Given the description of an element on the screen output the (x, y) to click on. 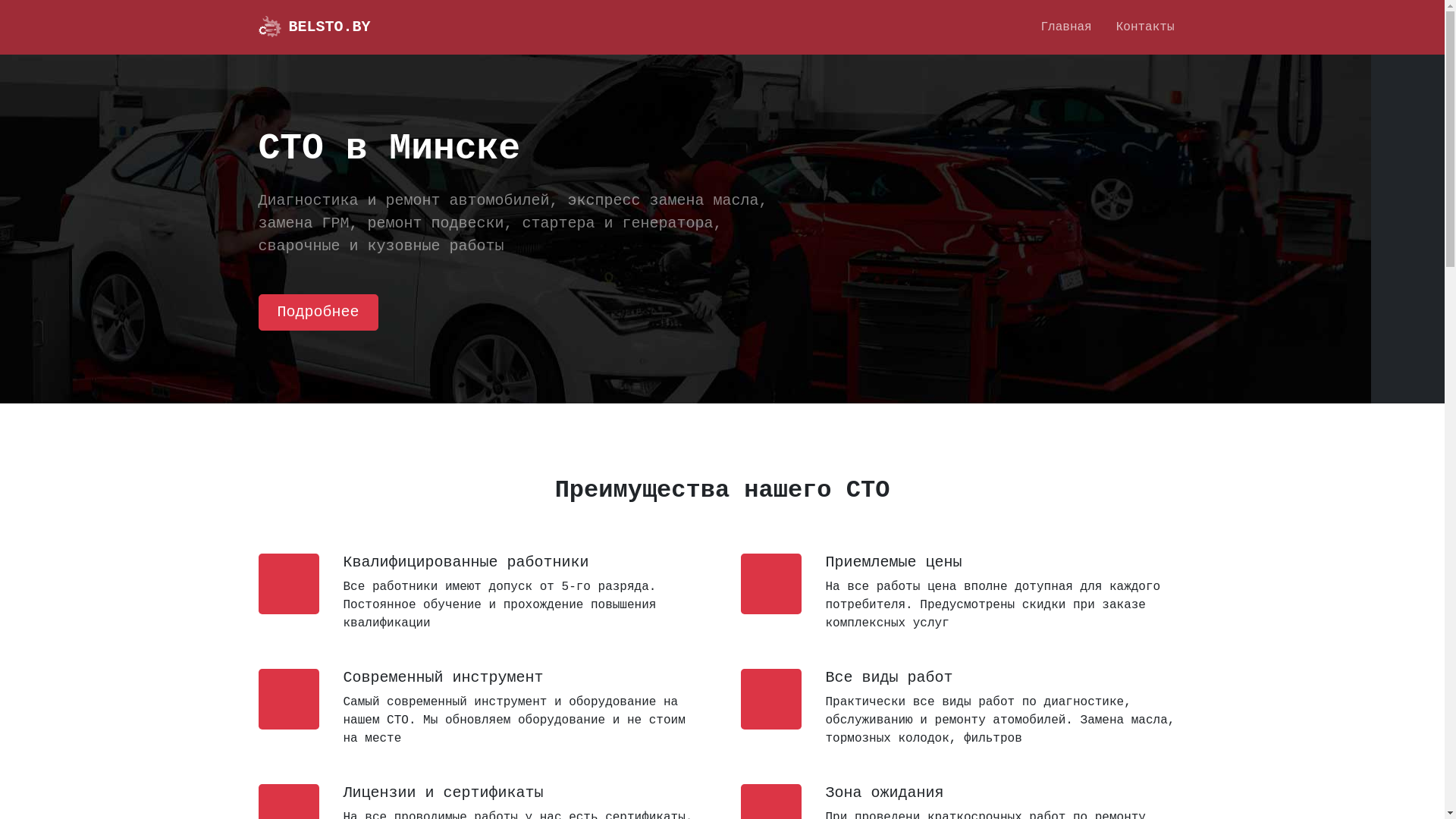
BELSTO.BY Element type: text (313, 26)
